Given the description of an element on the screen output the (x, y) to click on. 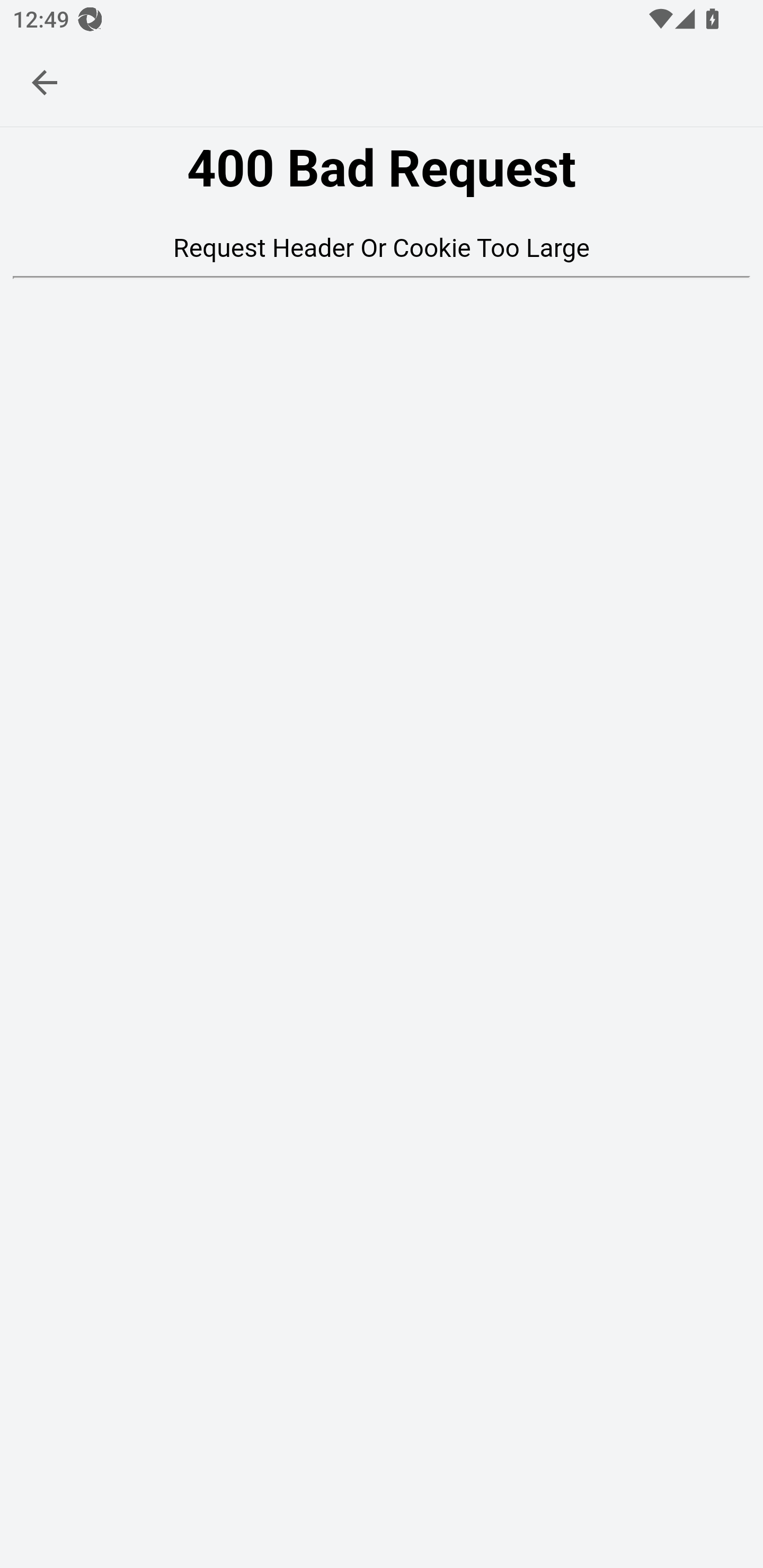
Navigate up (44, 82)
